Given the description of an element on the screen output the (x, y) to click on. 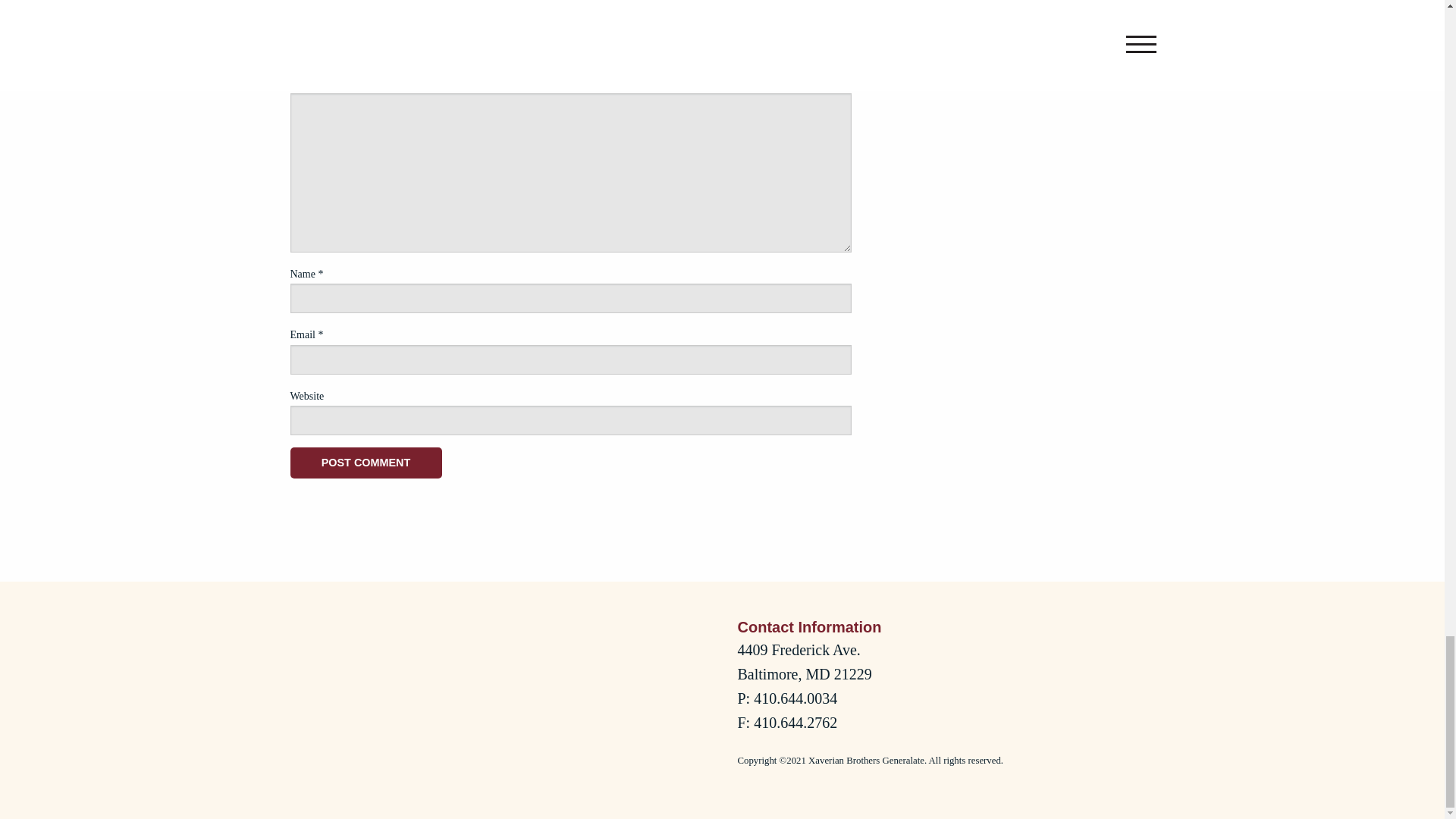
Post Comment (365, 462)
Post Comment (365, 462)
